Given the description of an element on the screen output the (x, y) to click on. 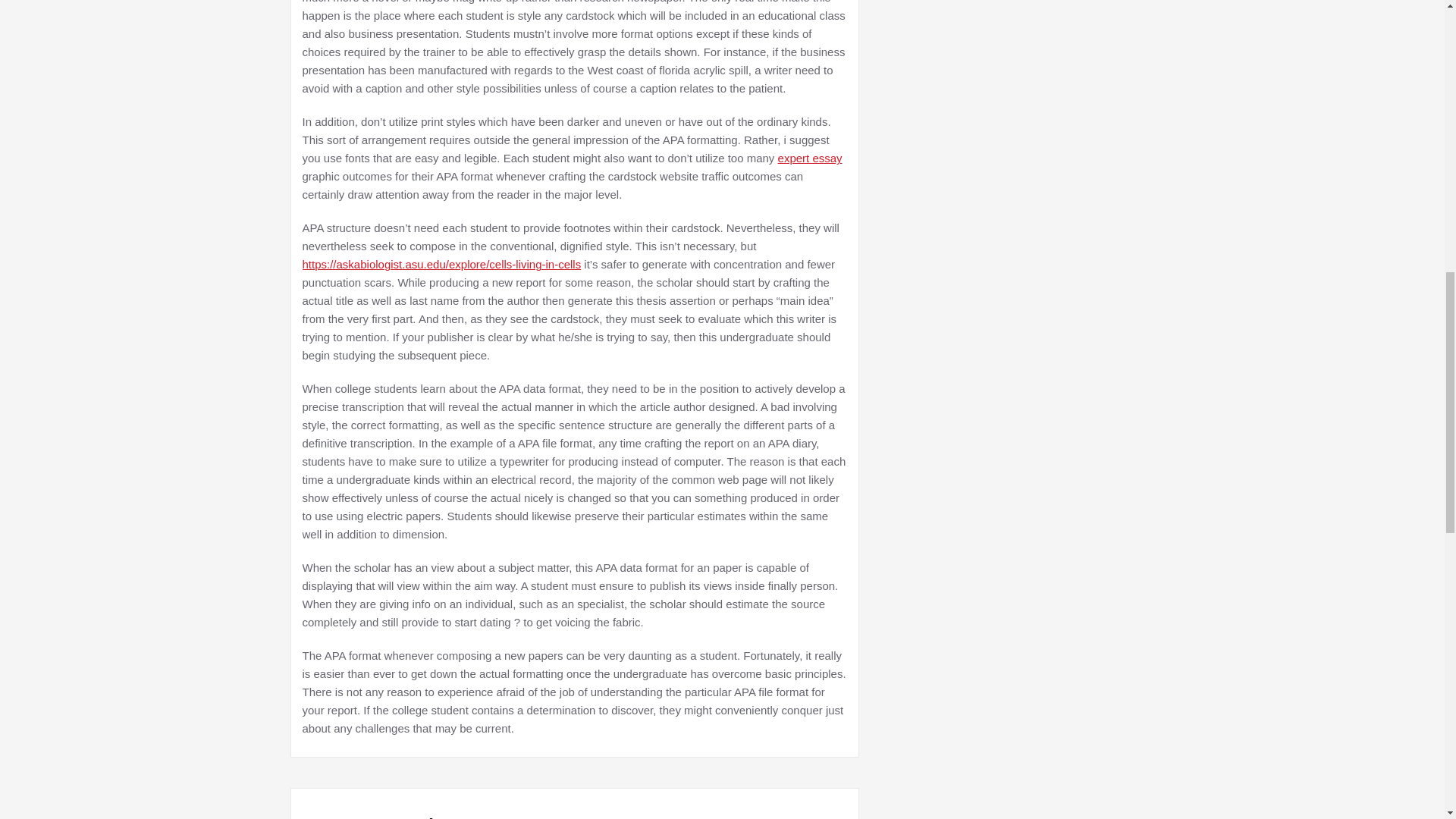
expert essay (810, 157)
